Given the description of an element on the screen output the (x, y) to click on. 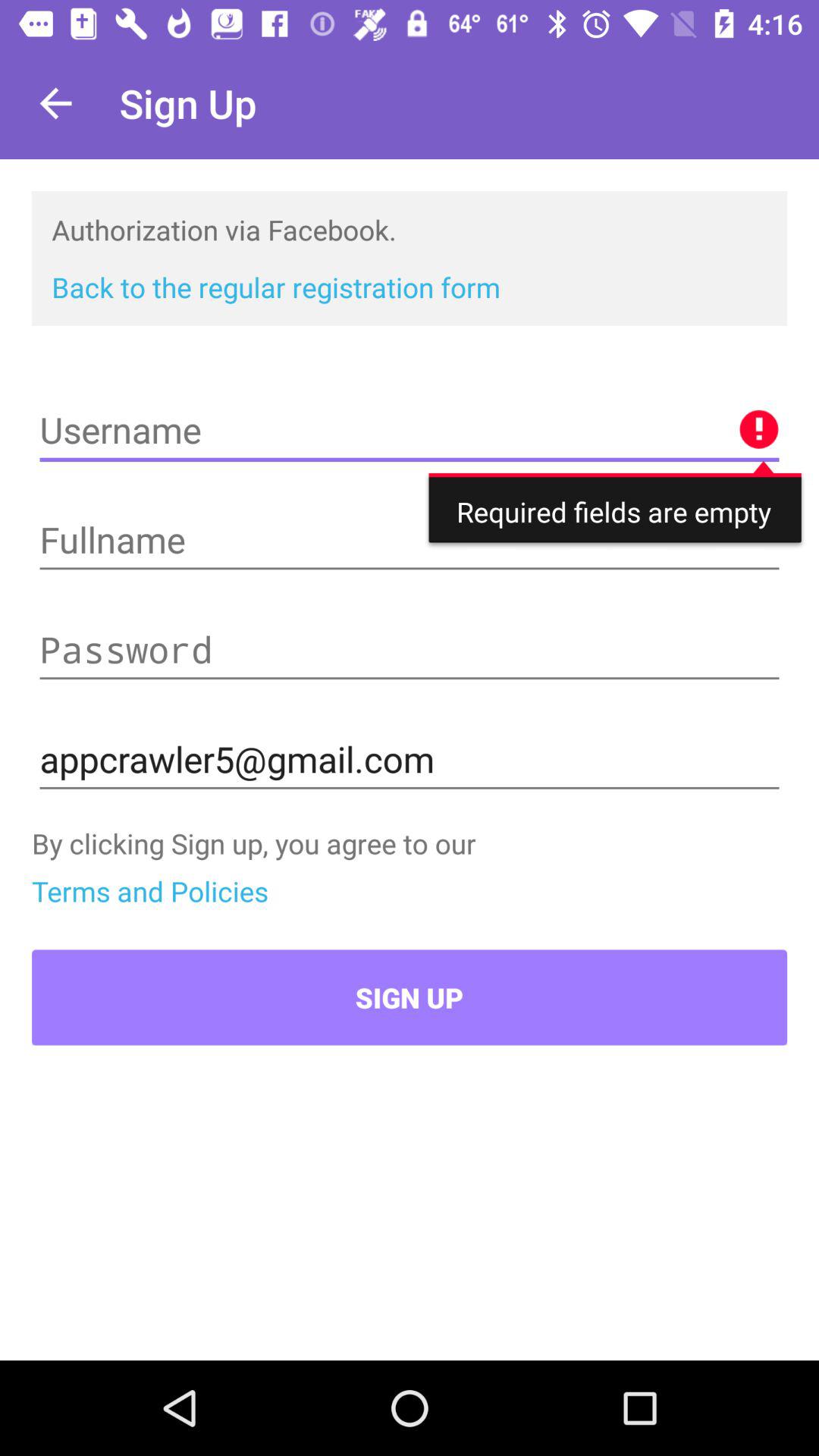
select the button shows enter password (409, 650)
